Given the description of an element on the screen output the (x, y) to click on. 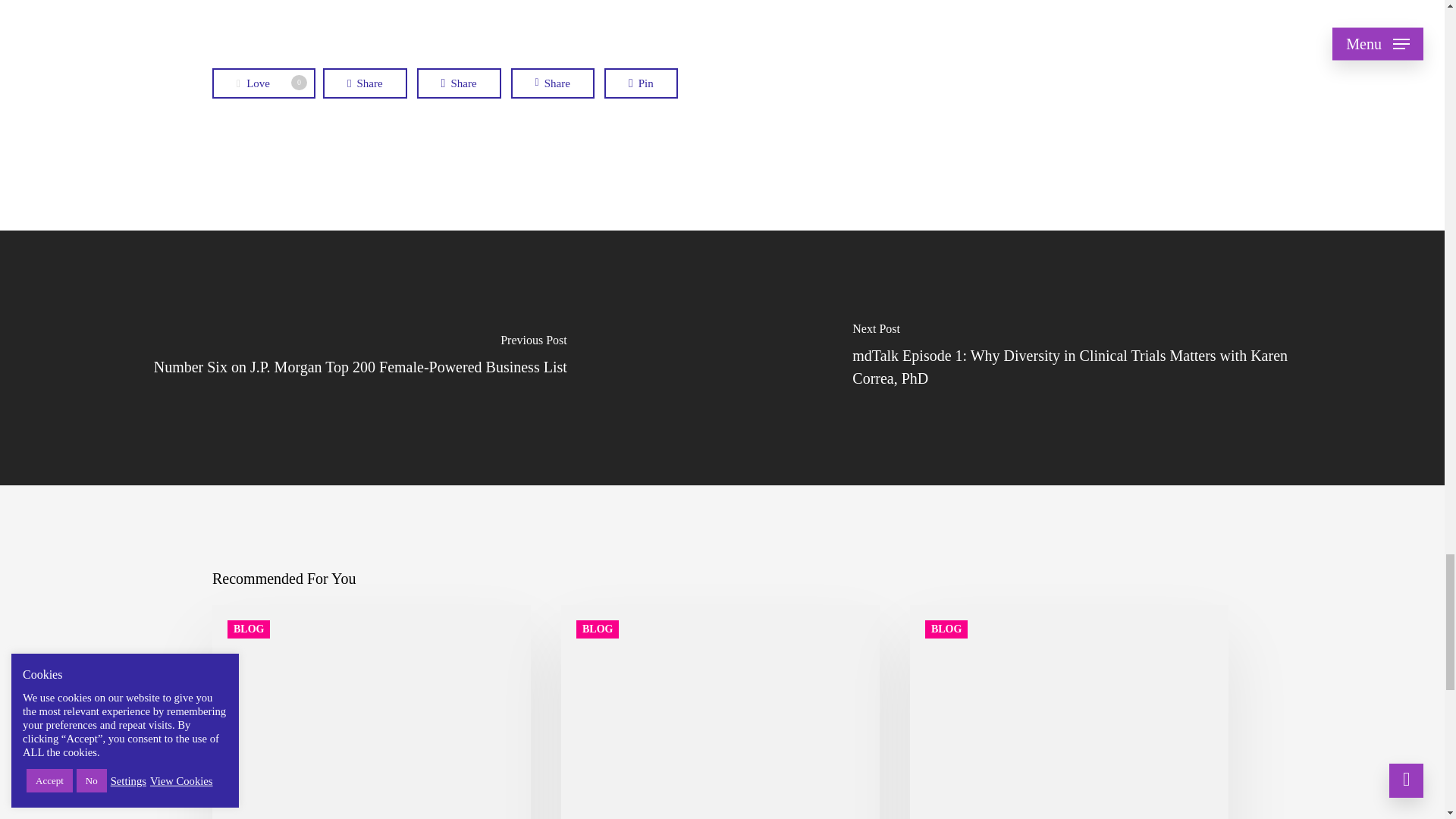
Share this (458, 82)
Share (458, 82)
Share this (552, 82)
Share this (365, 82)
Pin this (641, 82)
Love this (263, 83)
Pin (263, 83)
Share (641, 82)
Share (552, 82)
